Given the description of an element on the screen output the (x, y) to click on. 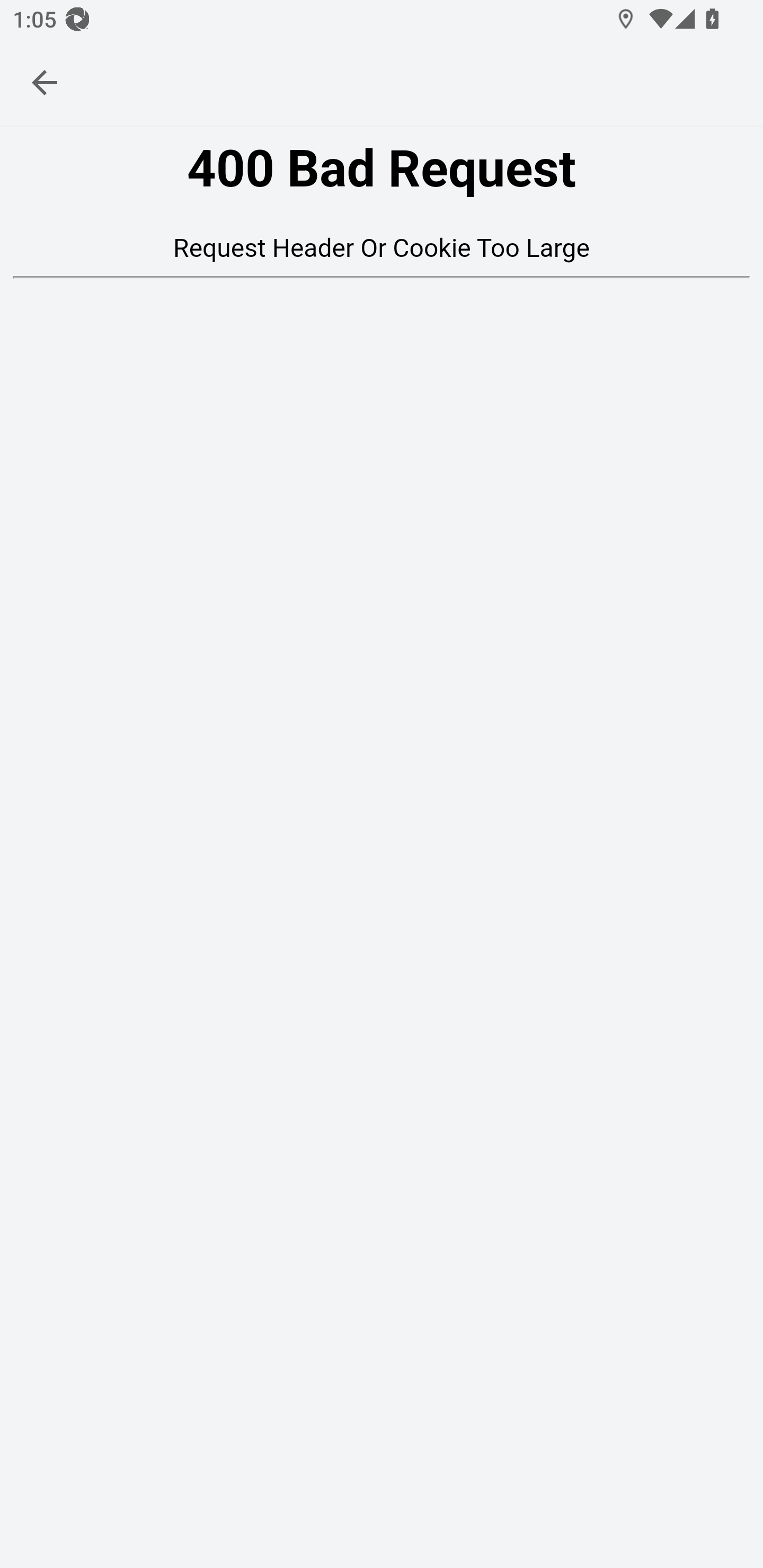
Navigate up (44, 82)
